Given the description of an element on the screen output the (x, y) to click on. 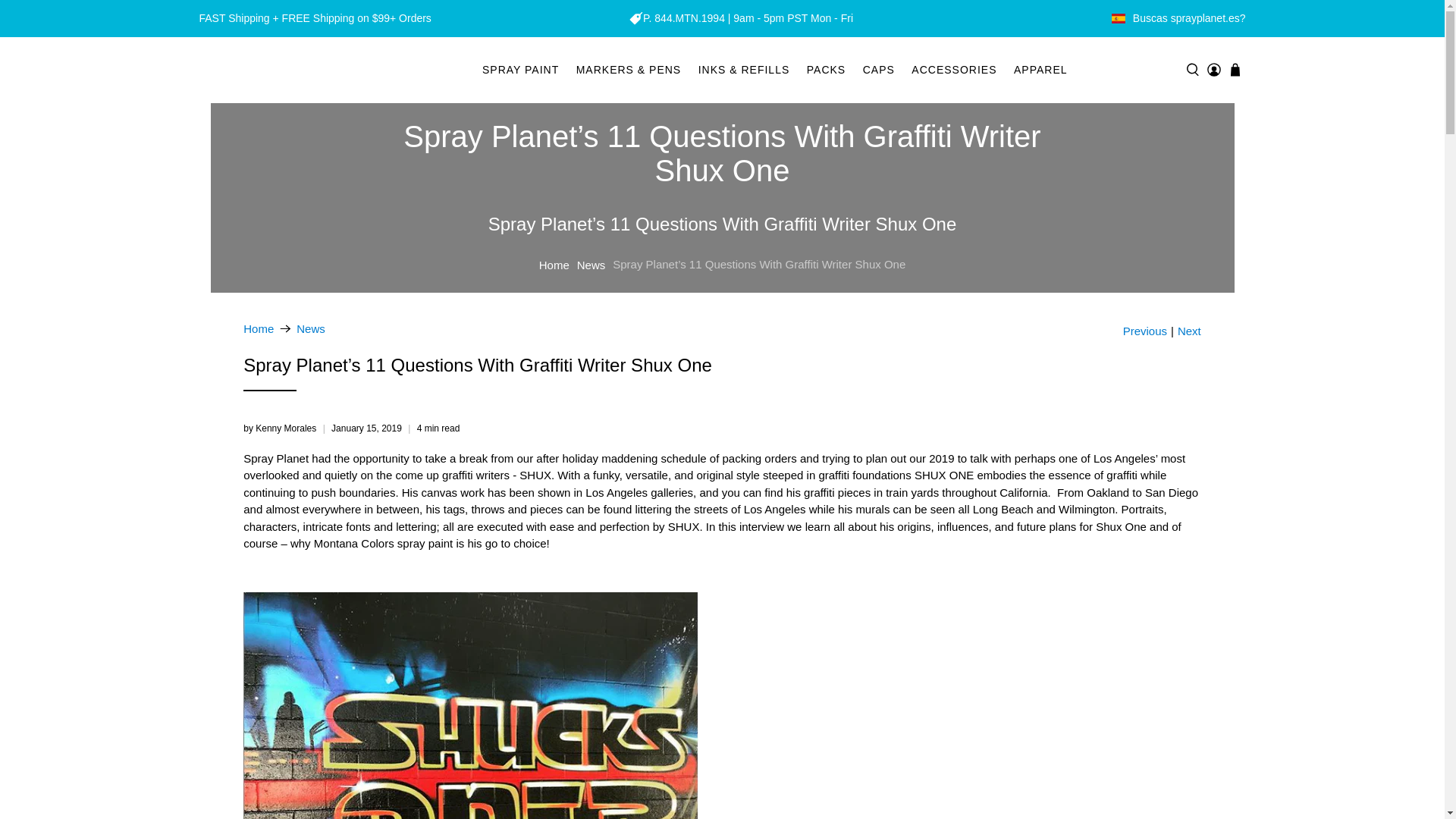
CAPS (877, 69)
News (310, 328)
APPAREL (1040, 69)
sprayplanet (258, 328)
PACKS (825, 69)
ACCESSORIES (954, 69)
SPRAY PAINT (520, 69)
Previous (1144, 330)
Buscas sprayplanet.es? (1189, 18)
Next (1189, 330)
